Given the description of an element on the screen output the (x, y) to click on. 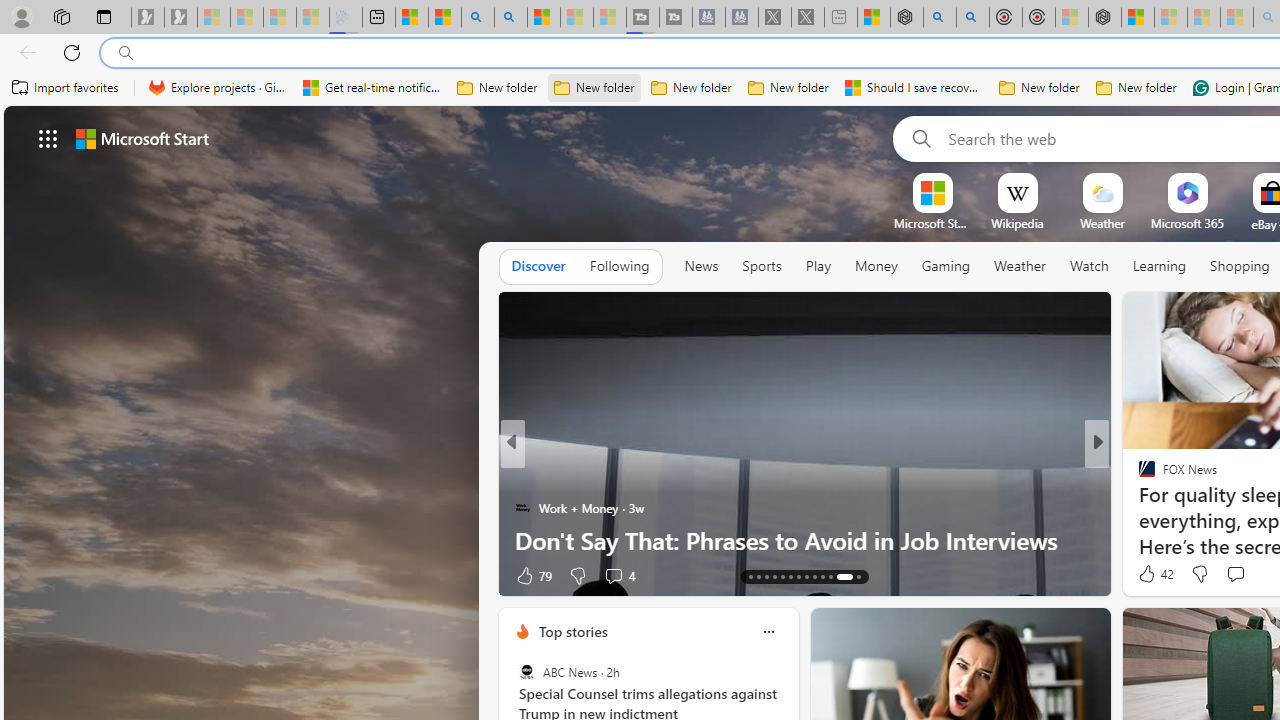
Top stories (572, 631)
Wikipedia (1017, 223)
Don't Say That: Phrases to Avoid in Job Interviews (804, 539)
AutomationID: tab-21 (814, 576)
